Given the description of an element on the screen output the (x, y) to click on. 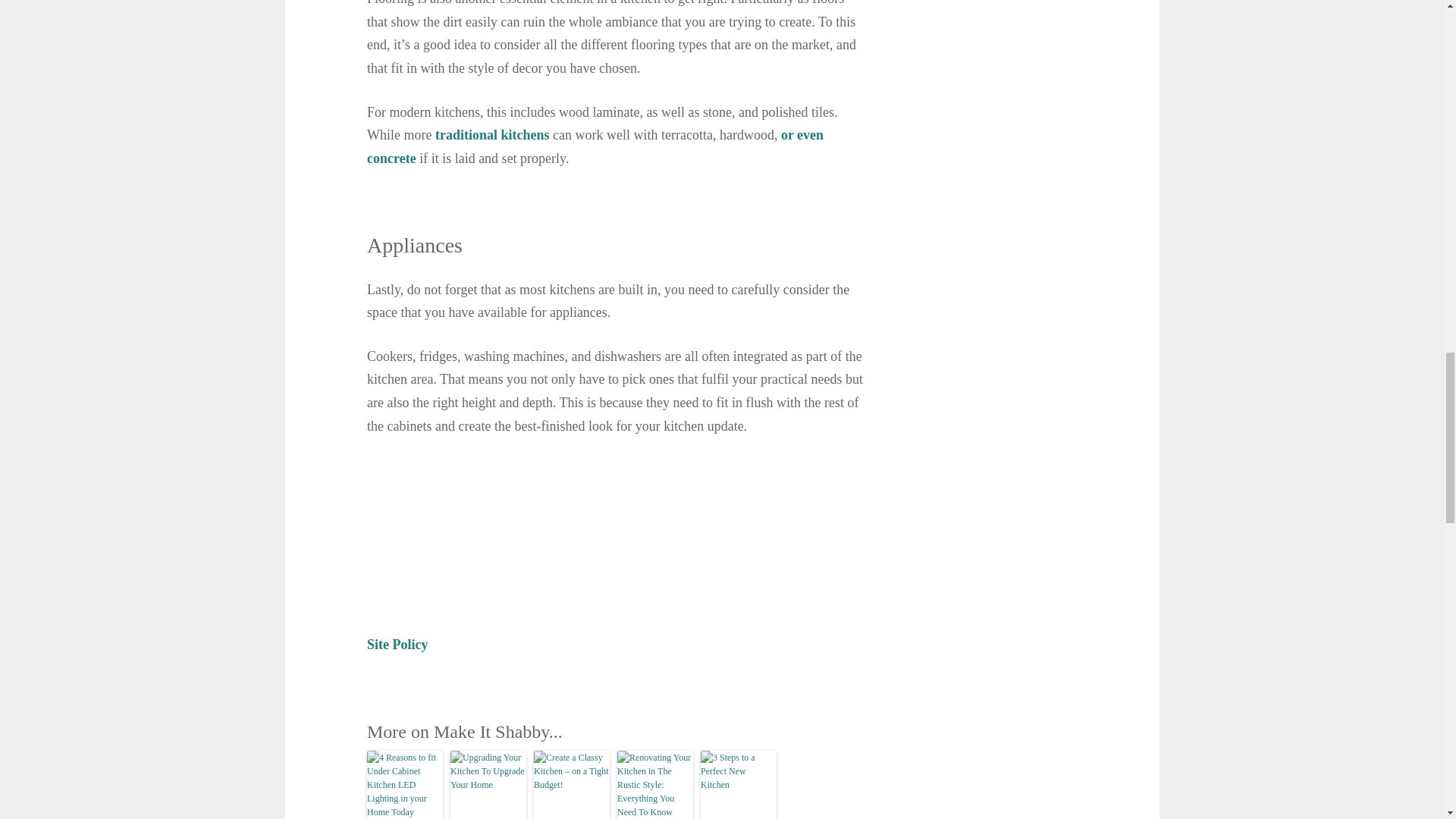
Site Policy (397, 644)
traditional kitchens (492, 134)
or even concrete (595, 146)
